Given the description of an element on the screen output the (x, y) to click on. 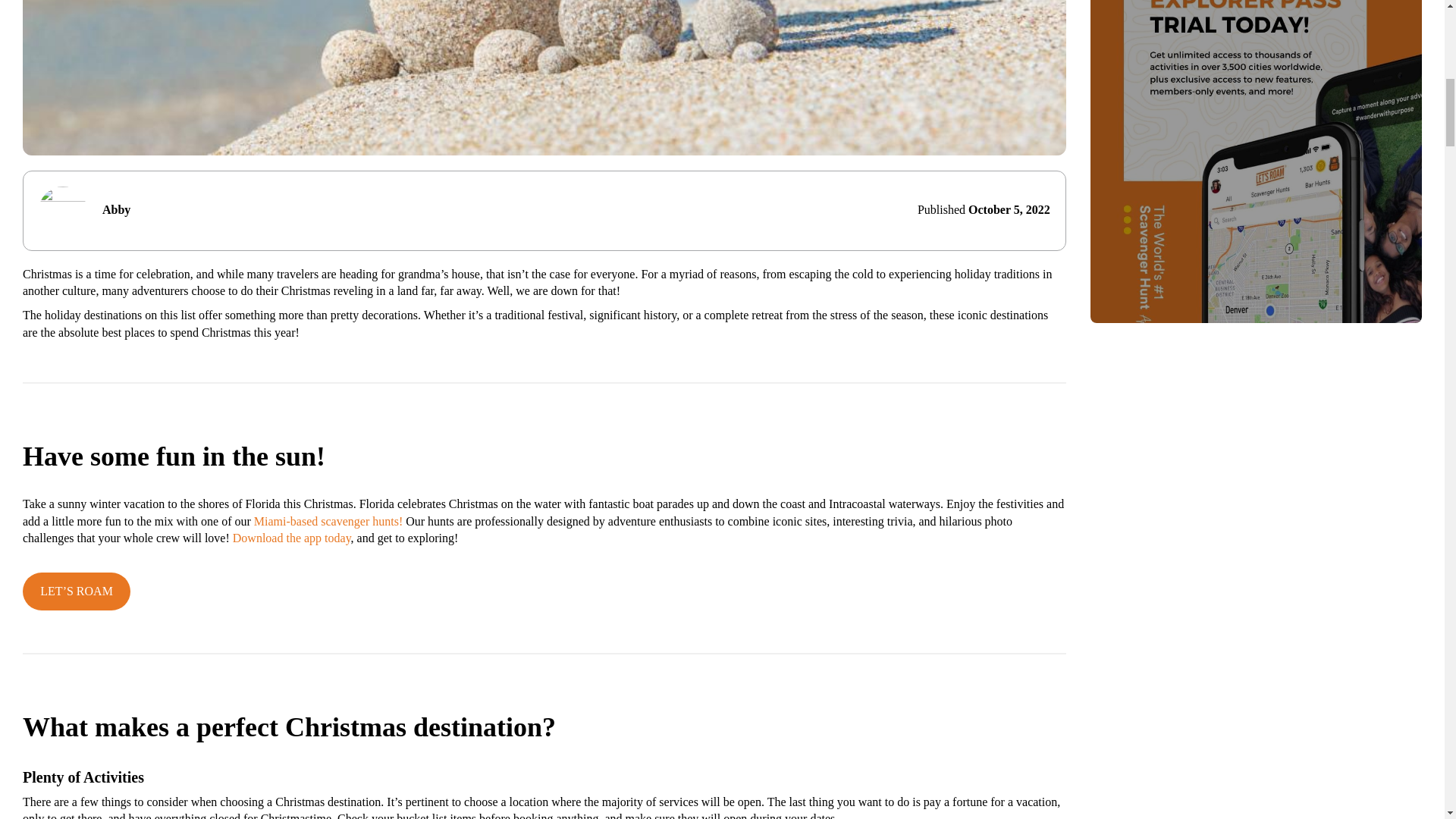
Download the app today (291, 537)
Miami-based scavenger hunts! (328, 521)
